Given the description of an element on the screen output the (x, y) to click on. 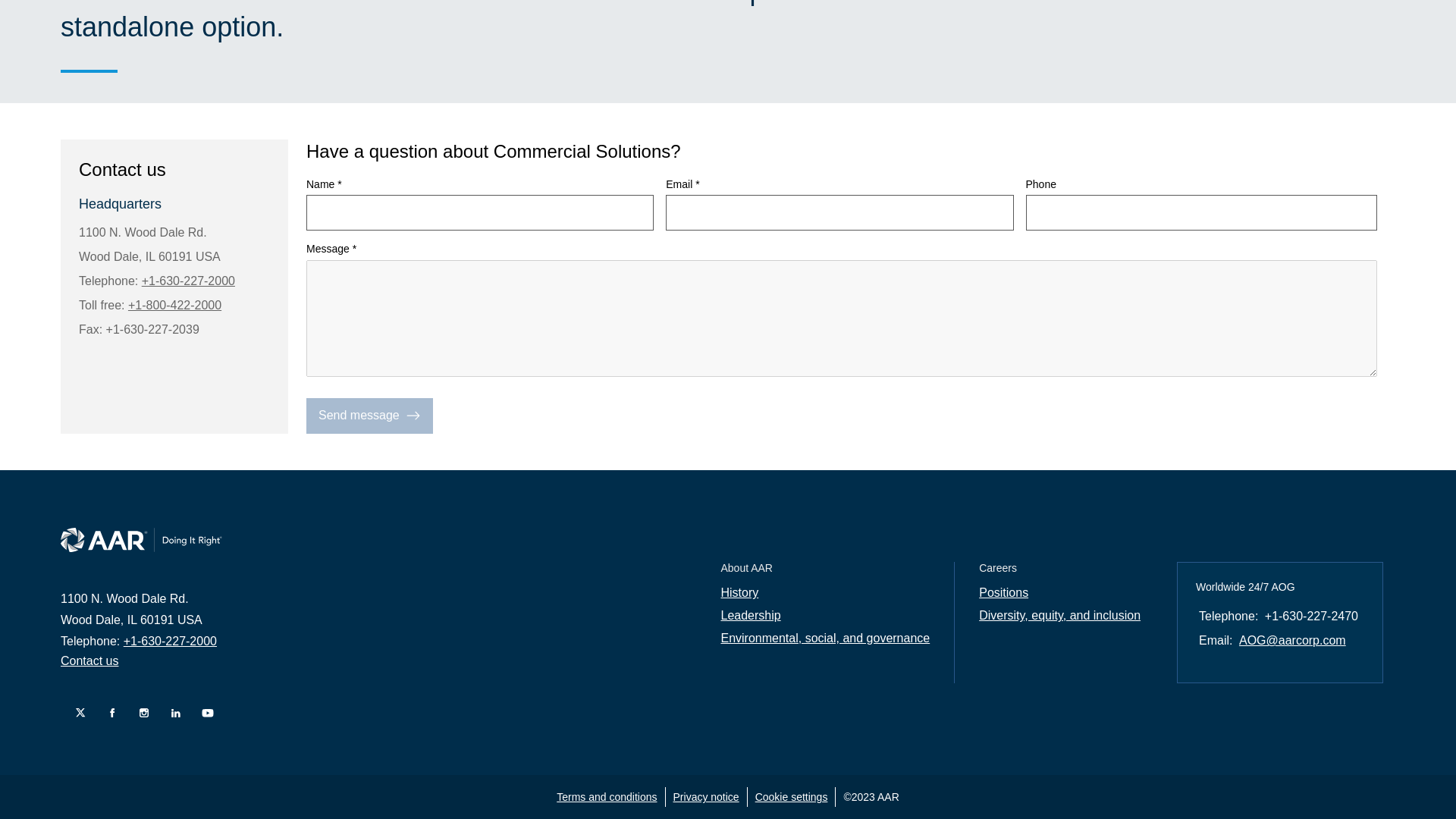
YouTube (203, 712)
LinkedIn (172, 712)
X (76, 712)
Instagram (140, 712)
AAR Doing it Right logo (141, 539)
Facebook (108, 712)
